Given the description of an element on the screen output the (x, y) to click on. 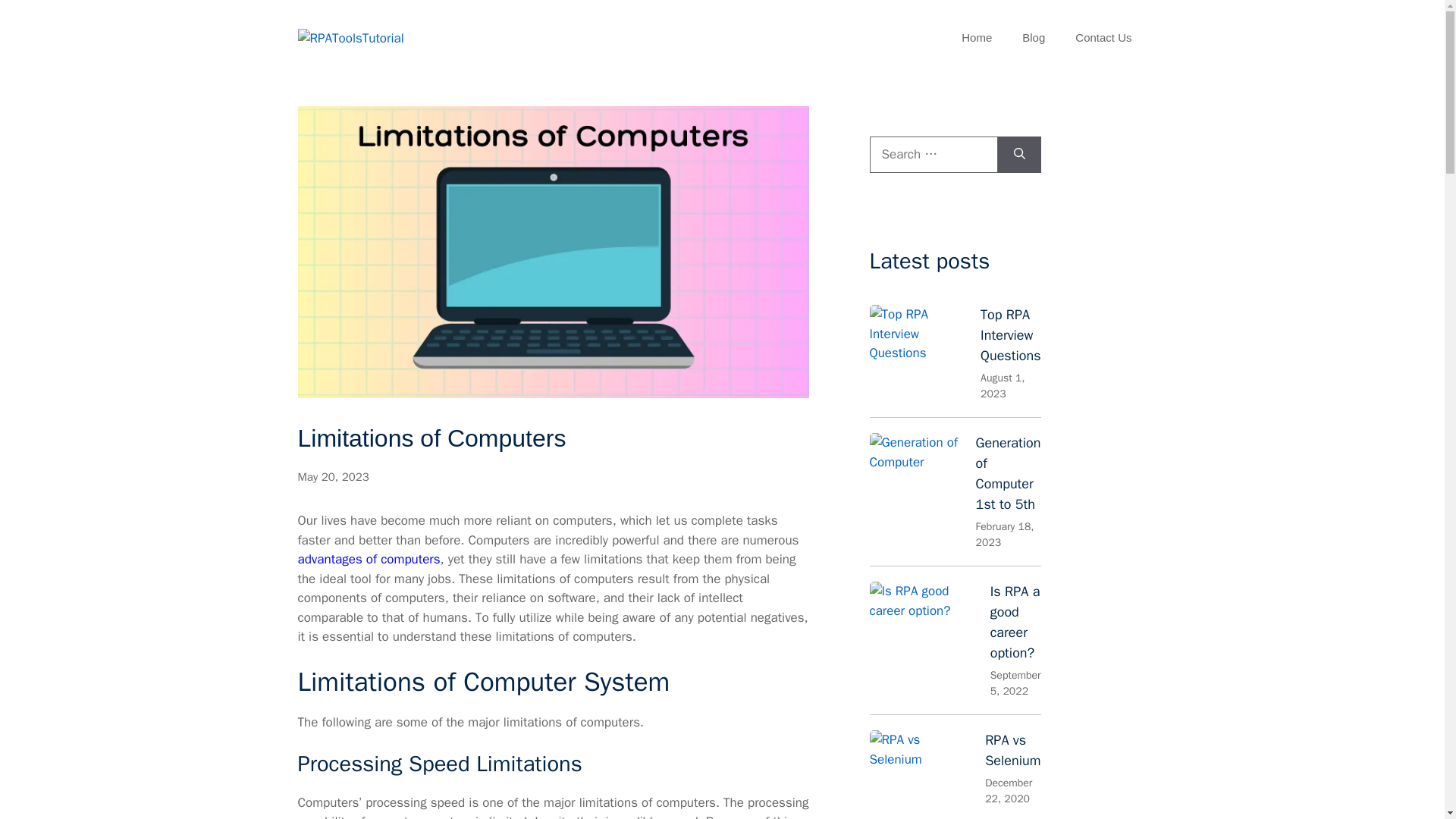
advantages of computers (368, 559)
Top RPA Interview Questions (1010, 334)
Blog (1033, 37)
Search for: (933, 154)
Home (976, 37)
Contact Us (1103, 37)
RPA vs Selenium (1013, 750)
